Given the description of an element on the screen output the (x, y) to click on. 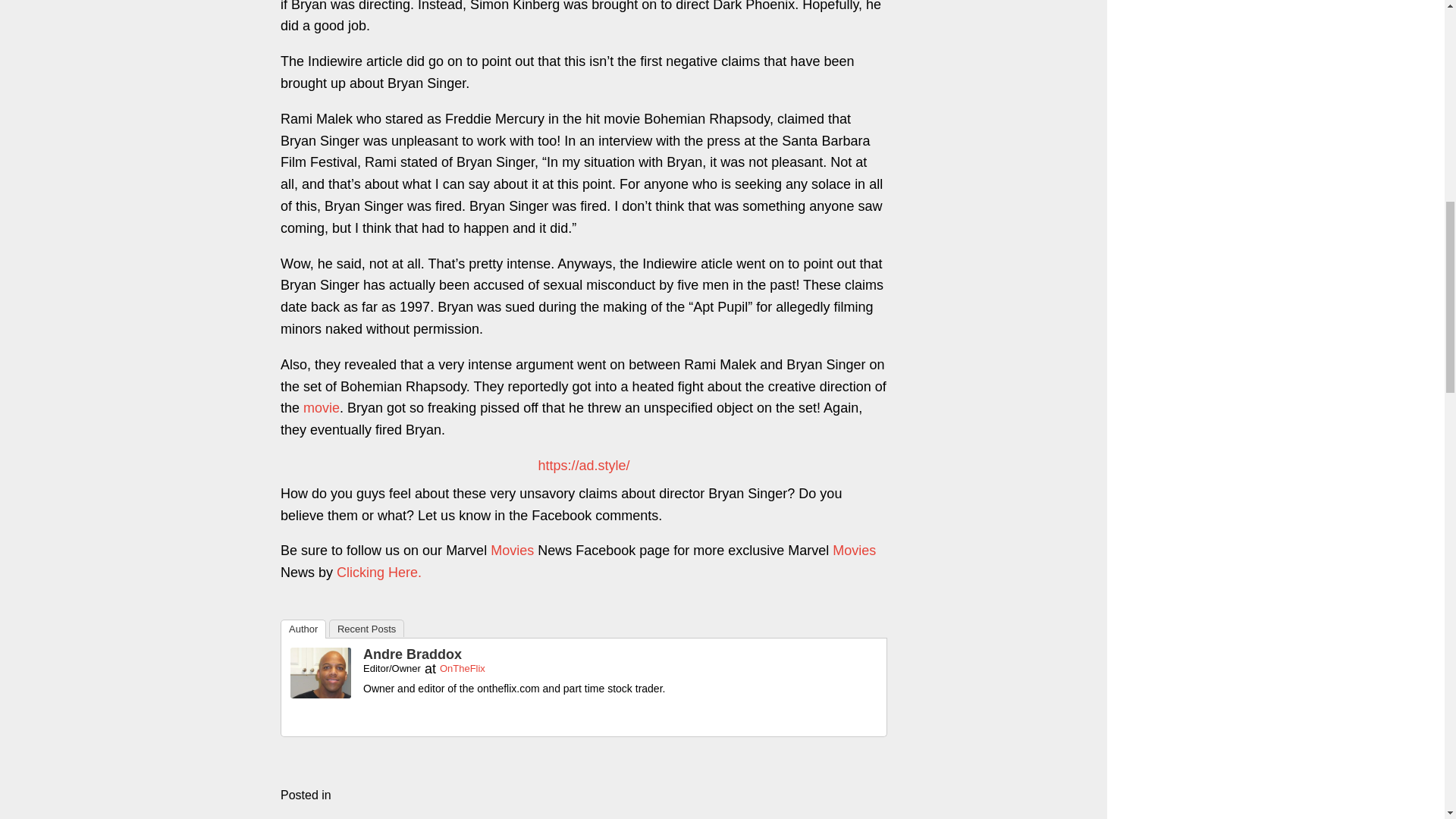
Andre Braddox (411, 654)
Movies (854, 549)
OnTheFlix (461, 668)
Twitter (330, 717)
movie (320, 407)
Author (303, 628)
Andre Braddox (319, 693)
Get your favorite TV shows and movies (320, 407)
Get your favorite TV shows and movies (854, 549)
Movies (512, 549)
